Given the description of an element on the screen output the (x, y) to click on. 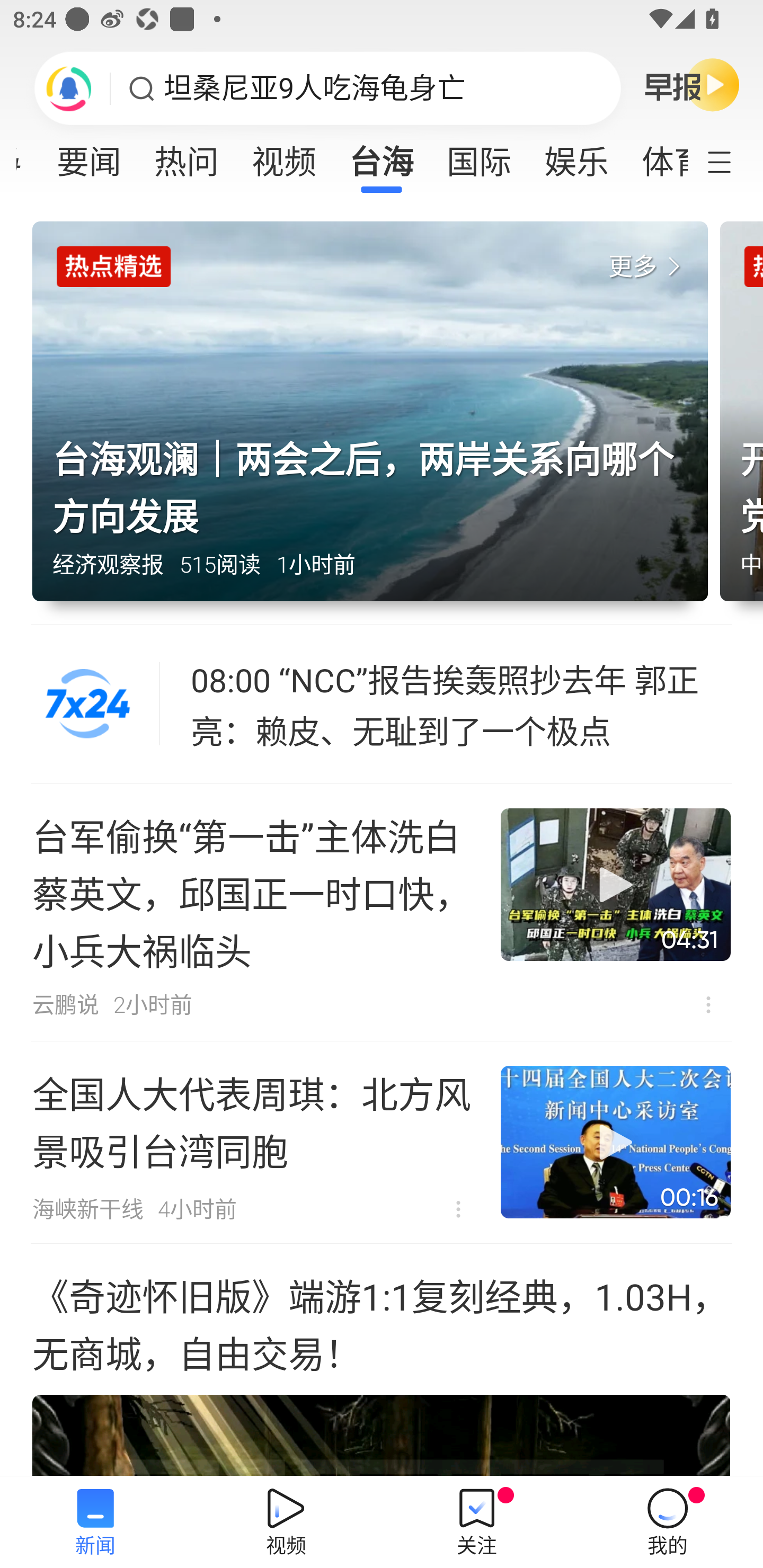
早晚报 (691, 84)
刷新 (68, 88)
坦桑尼亚9人吃海龟身亡 (314, 88)
要闻 (89, 155)
热问 (186, 155)
视频 (283, 155)
台海 (381, 155)
国际 (478, 155)
娱乐 (575, 155)
 定制频道 (731, 160)
更多  台海观澜｜两会之后，两岸关系向哪个方向发展 经济观察报   515阅读   1小时前 (376, 422)
更多  (648, 267)
08:00 “NCC”报告挨轰照抄去年 郭正亮：赖皮、无耻到了一个极点 (461, 704)
 不感兴趣 (707, 1005)
全国人大代表周琪：北方风景吸引台湾同胞 海峡新干线 4小时前  不感兴趣 00:16 (381, 1142)
 不感兴趣 (458, 1208)
《奇迹怀旧版》端游1:1复刻经典，1.03H，无商城，自由交易！ (381, 1360)
